Given the description of an element on the screen output the (x, y) to click on. 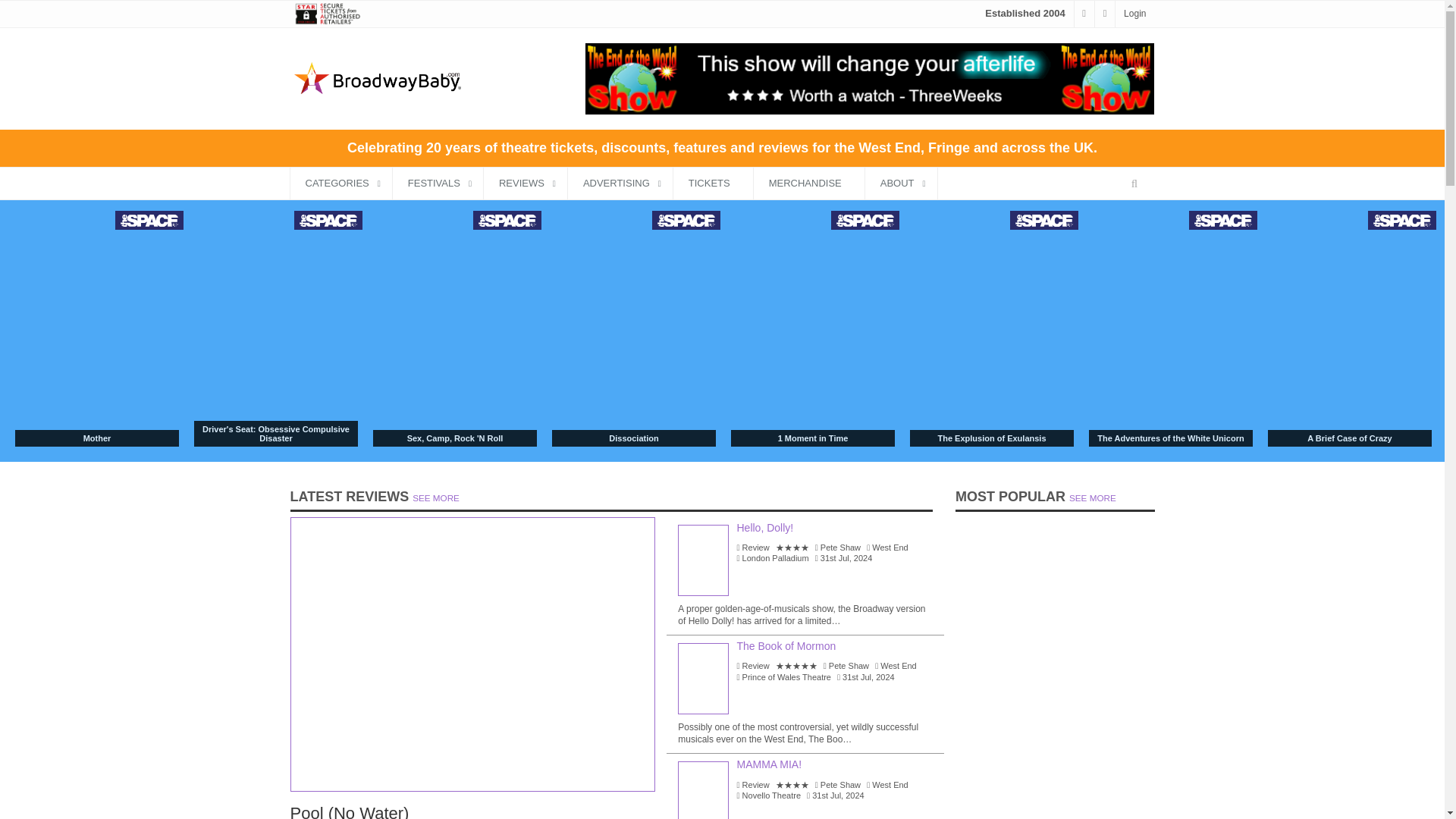
Login (1134, 13)
FESTIVALS (438, 183)
CATEGORIES (340, 183)
